Given the description of an element on the screen output the (x, y) to click on. 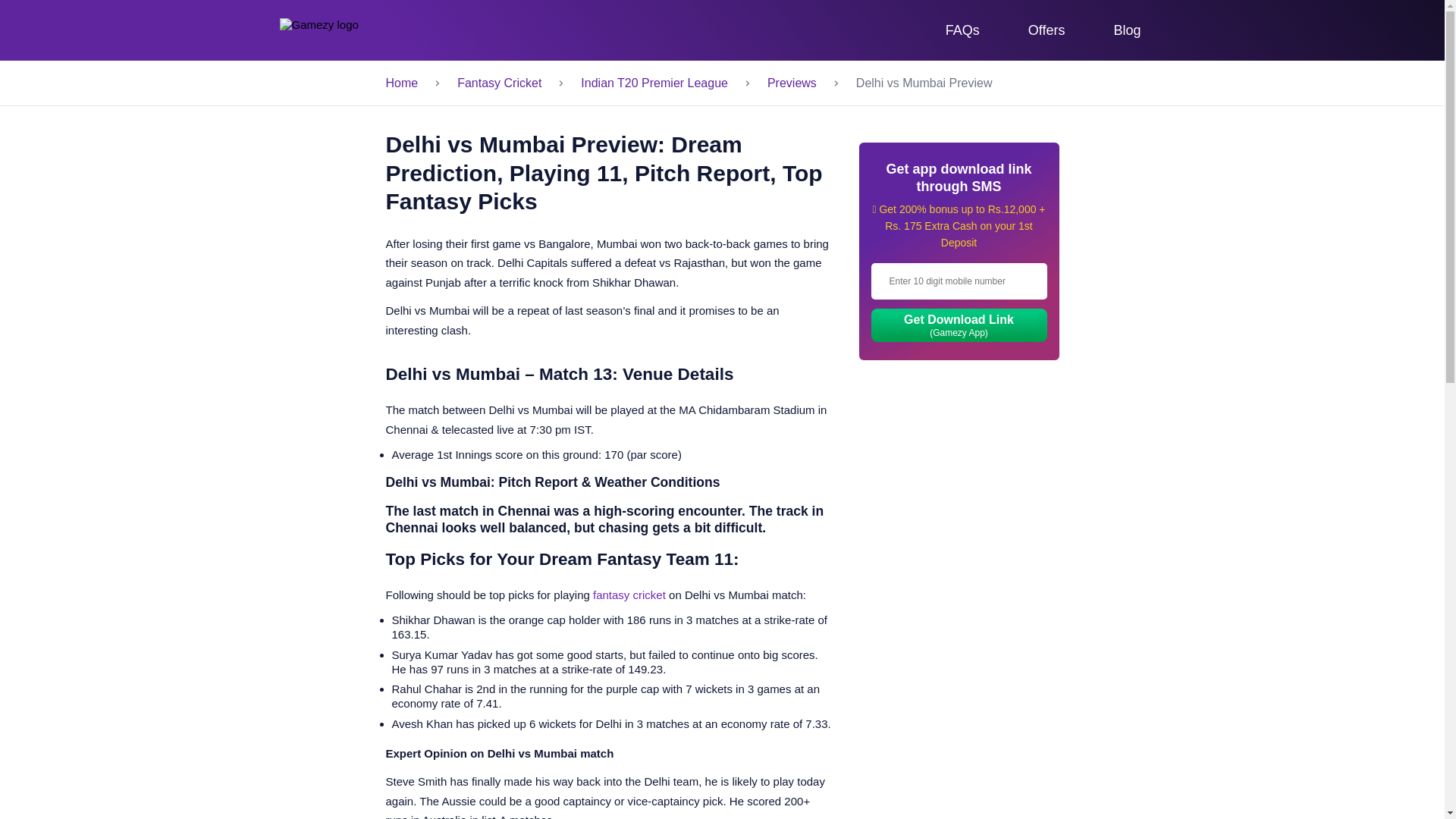
fantasy cricket (628, 594)
Indian T20 Premier League (654, 83)
Offers (1046, 30)
FAQs (962, 30)
Blog (1126, 30)
Fantasy Cricket (499, 83)
Home (401, 83)
Delhi vs Mumbai Preview (957, 83)
Previews (791, 83)
